Given the description of an element on the screen output the (x, y) to click on. 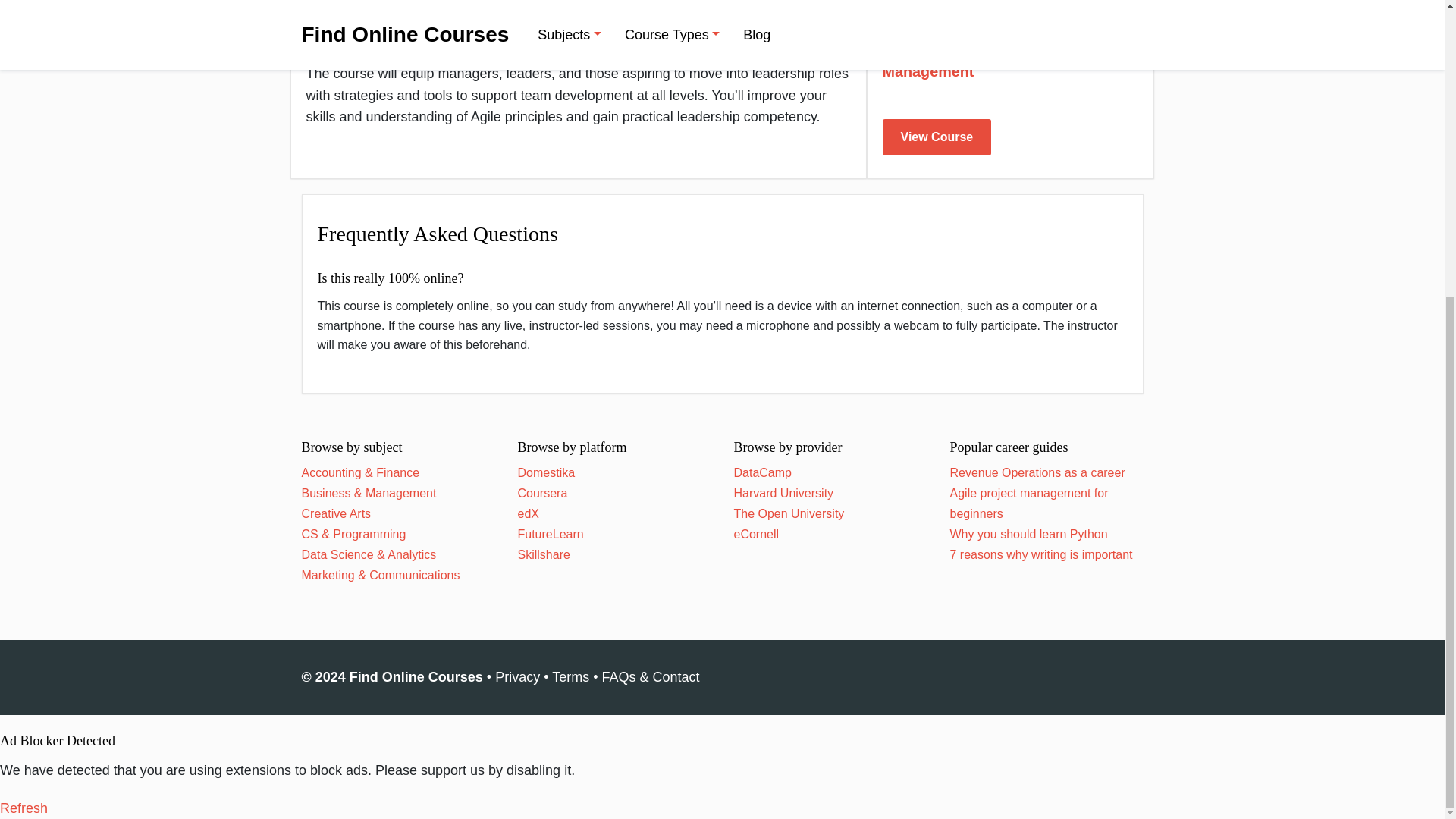
eCornell (755, 533)
Skillshare (542, 554)
edX (527, 513)
DataCamp (762, 472)
Browse by subject (352, 447)
Harvard University (783, 492)
Domestika (545, 472)
Coursera (541, 492)
View Course (936, 136)
Leadership (1062, 51)
Revenue Operations as a career (1036, 472)
FutureLearn (549, 533)
Creative Arts (336, 513)
Popular career guides (1008, 447)
The Open University (788, 513)
